Given the description of an element on the screen output the (x, y) to click on. 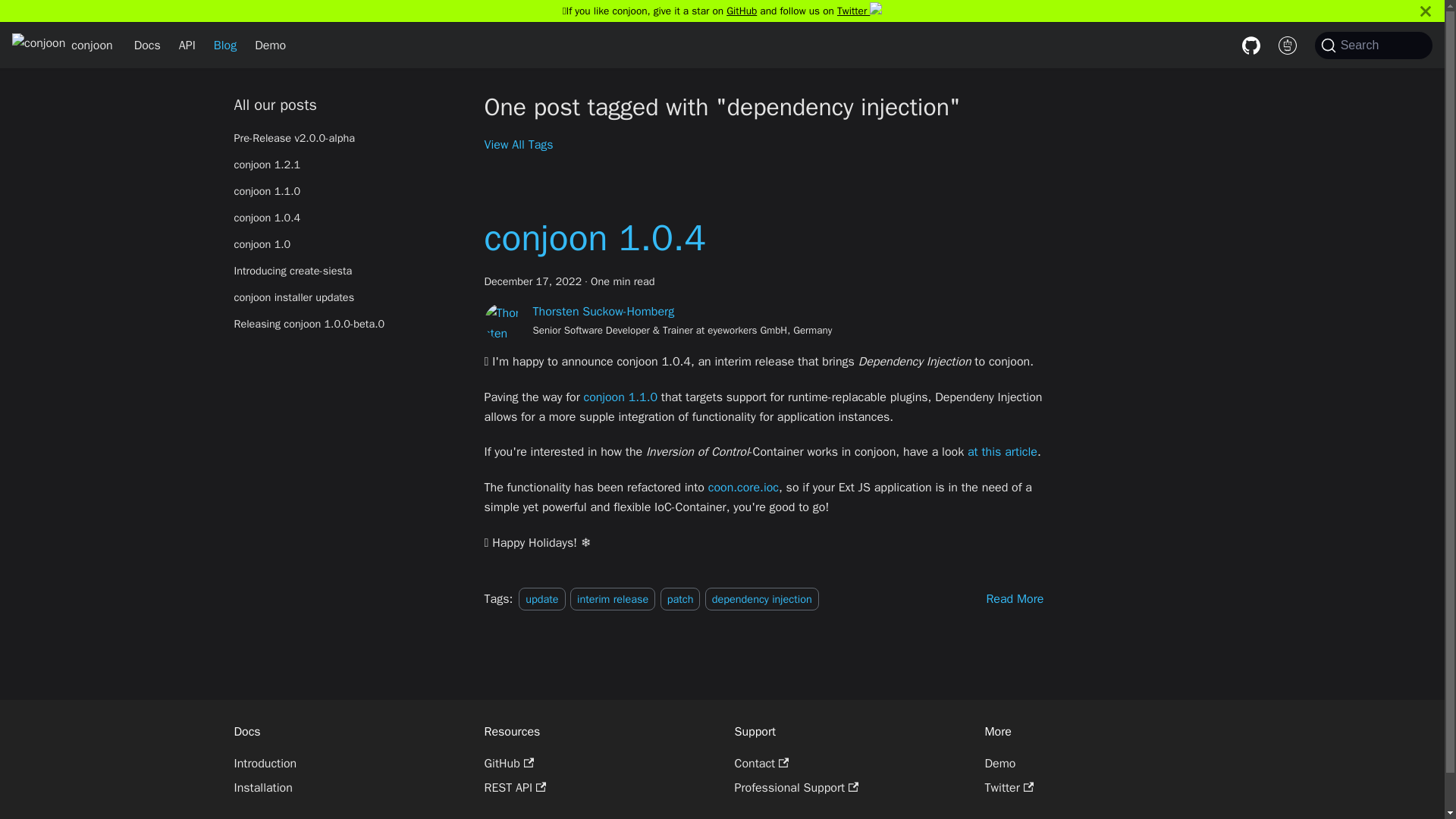
Thorsten Suckow-Homberg (603, 311)
conjoon 1.1.0 (346, 191)
Search (1373, 44)
conjoon 1.0 (346, 244)
Pre-Release v2.0.0-alpha (346, 138)
conjoon 1.0.4 (346, 218)
conjoon 1.1.0 (620, 396)
patch (680, 599)
Read More (1014, 598)
